Given the description of an element on the screen output the (x, y) to click on. 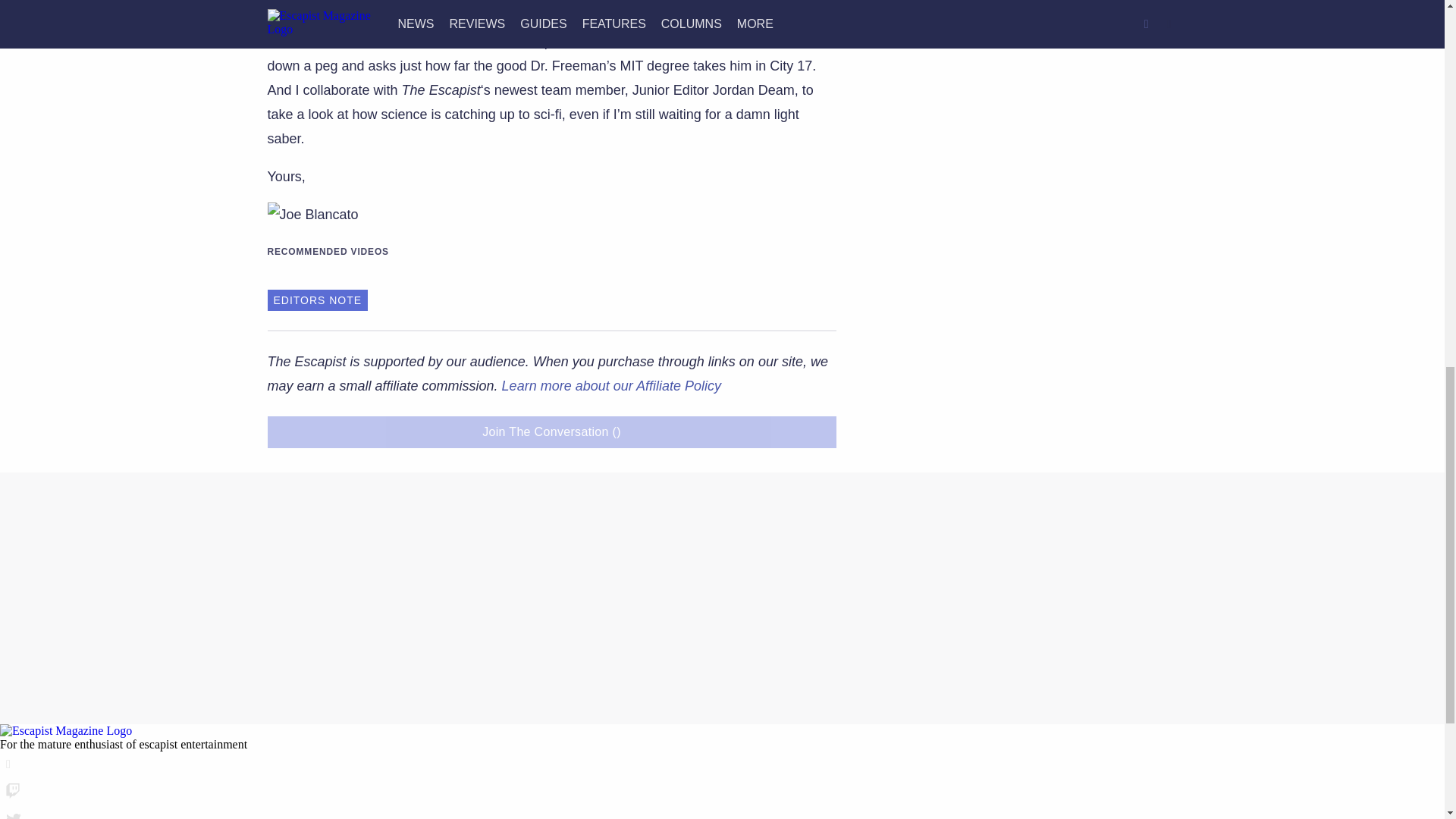
Joe Blancato (312, 214)
